Given the description of an element on the screen output the (x, y) to click on. 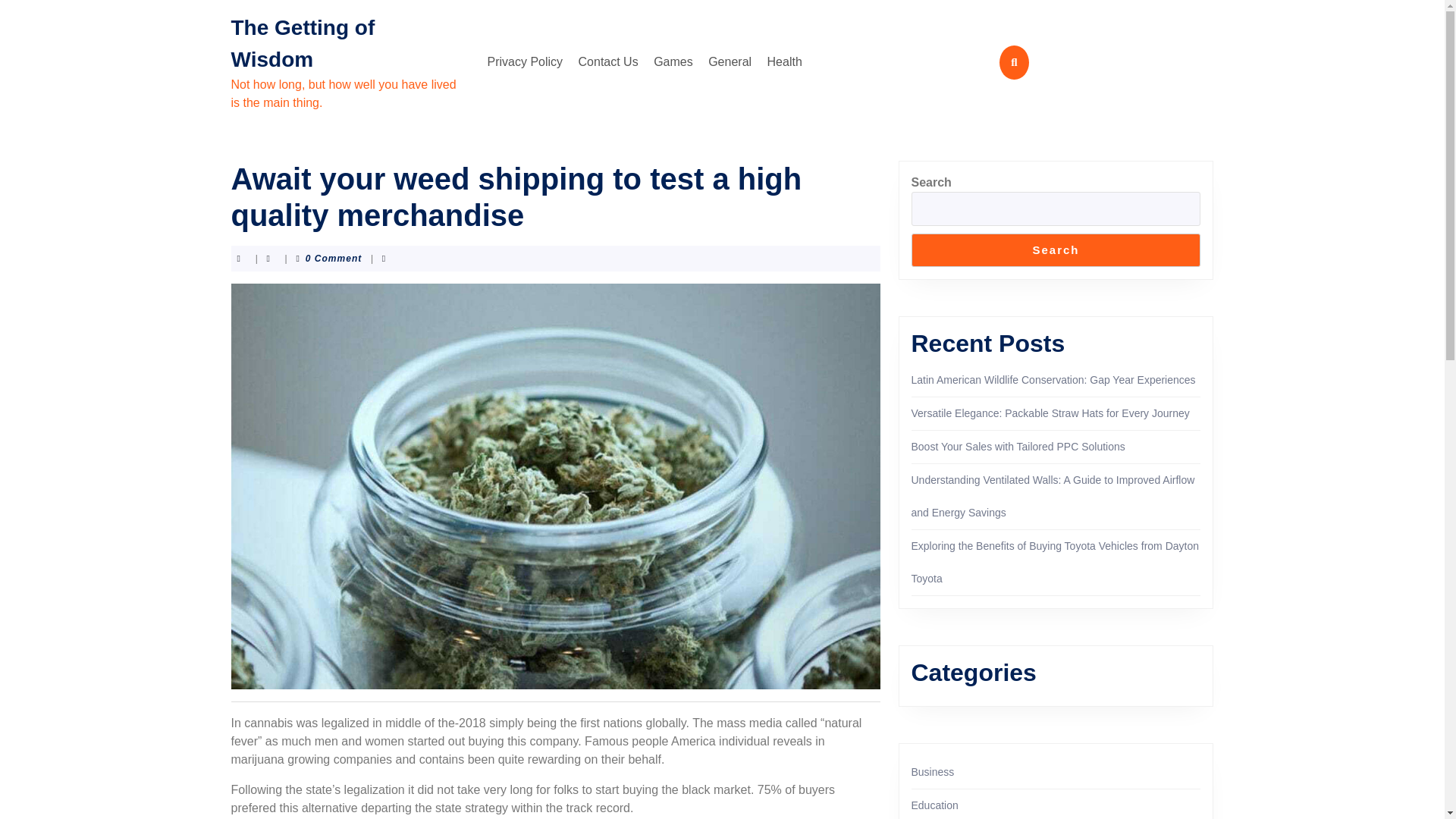
Health (784, 61)
General (729, 61)
The Getting of Wisdom (302, 43)
Boost Your Sales with Tailored PPC Solutions (1018, 446)
Privacy Policy (524, 61)
Latin American Wildlife Conservation: Gap Year Experiences (1053, 379)
Games (672, 61)
Business (933, 771)
Contact Us (608, 61)
